Given the description of an element on the screen output the (x, y) to click on. 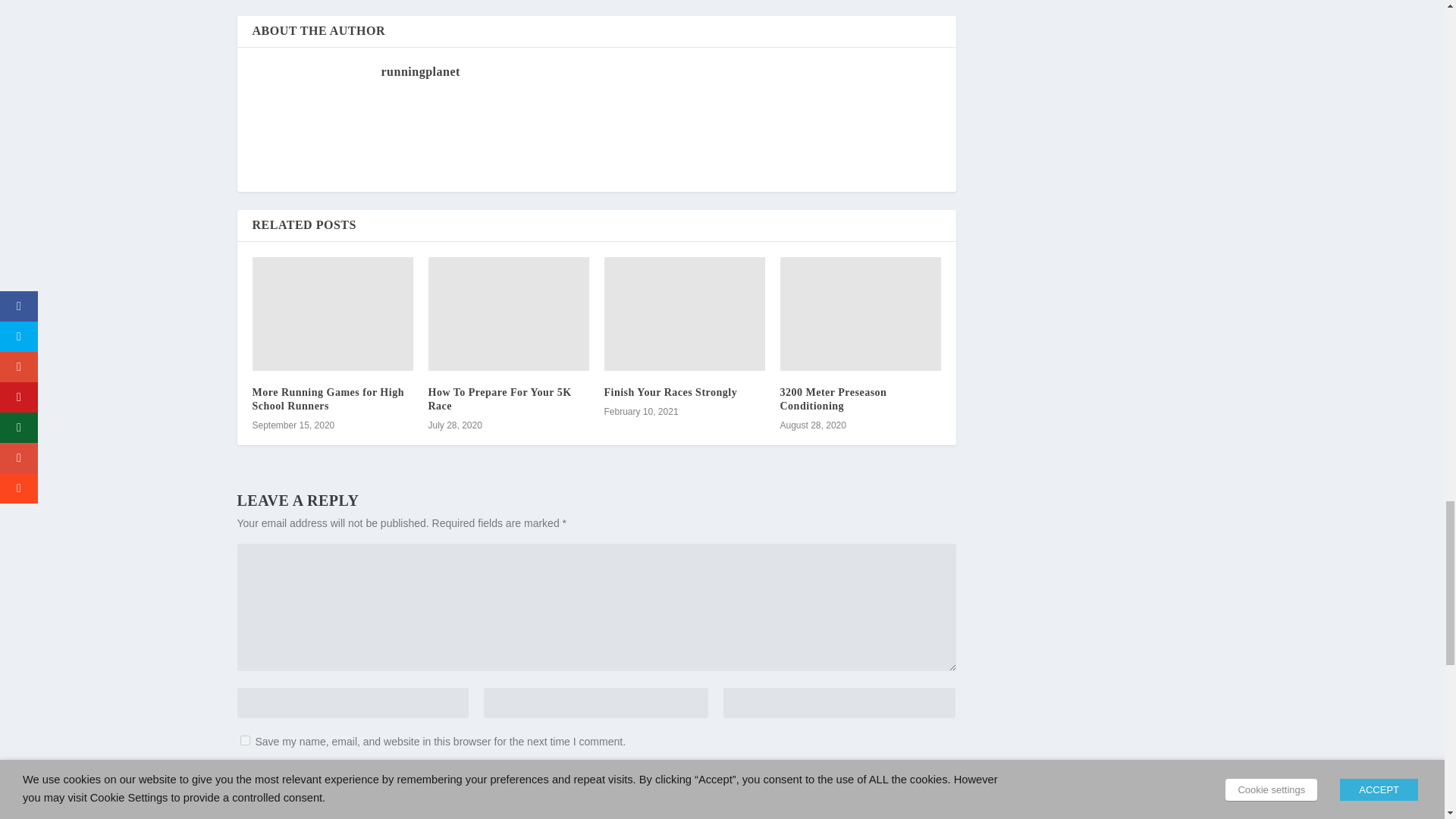
Post Comment (902, 776)
yes (244, 740)
